Given the description of an element on the screen output the (x, y) to click on. 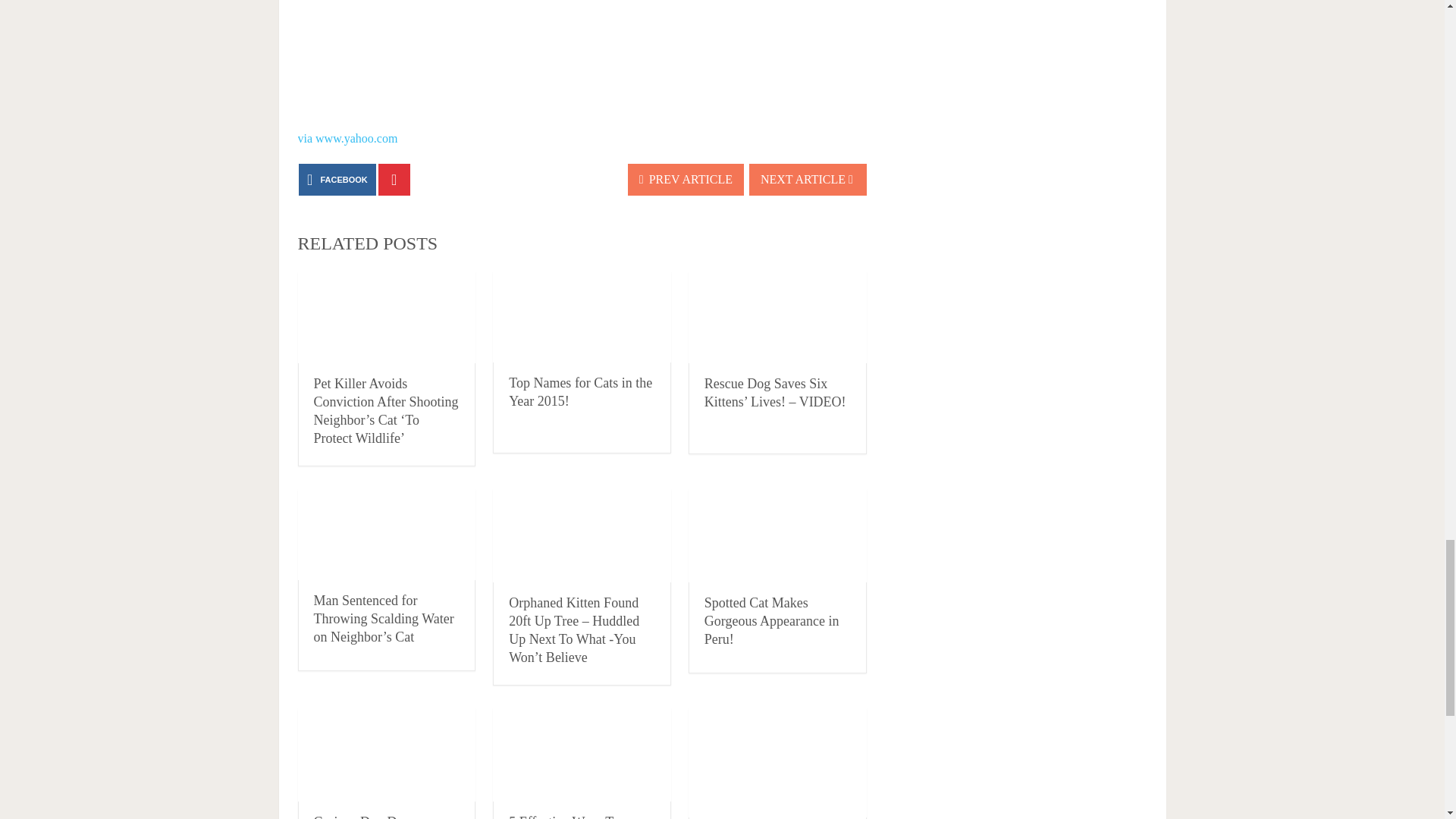
NEXT ARTICLE (807, 179)
Spotted Cat Makes Gorgeous Appearance in Peru! (777, 535)
FACEBOOK (336, 179)
Top Names for Cats in the Year 2015! (580, 391)
Spotted Cat Makes Gorgeous Appearance in Peru! (772, 621)
via www.yahoo.com (347, 137)
Top Names for Cats in the Year 2015! (582, 317)
PREV ARTICLE (685, 179)
Top Names for Cats in the Year 2015! (580, 391)
